Given the description of an element on the screen output the (x, y) to click on. 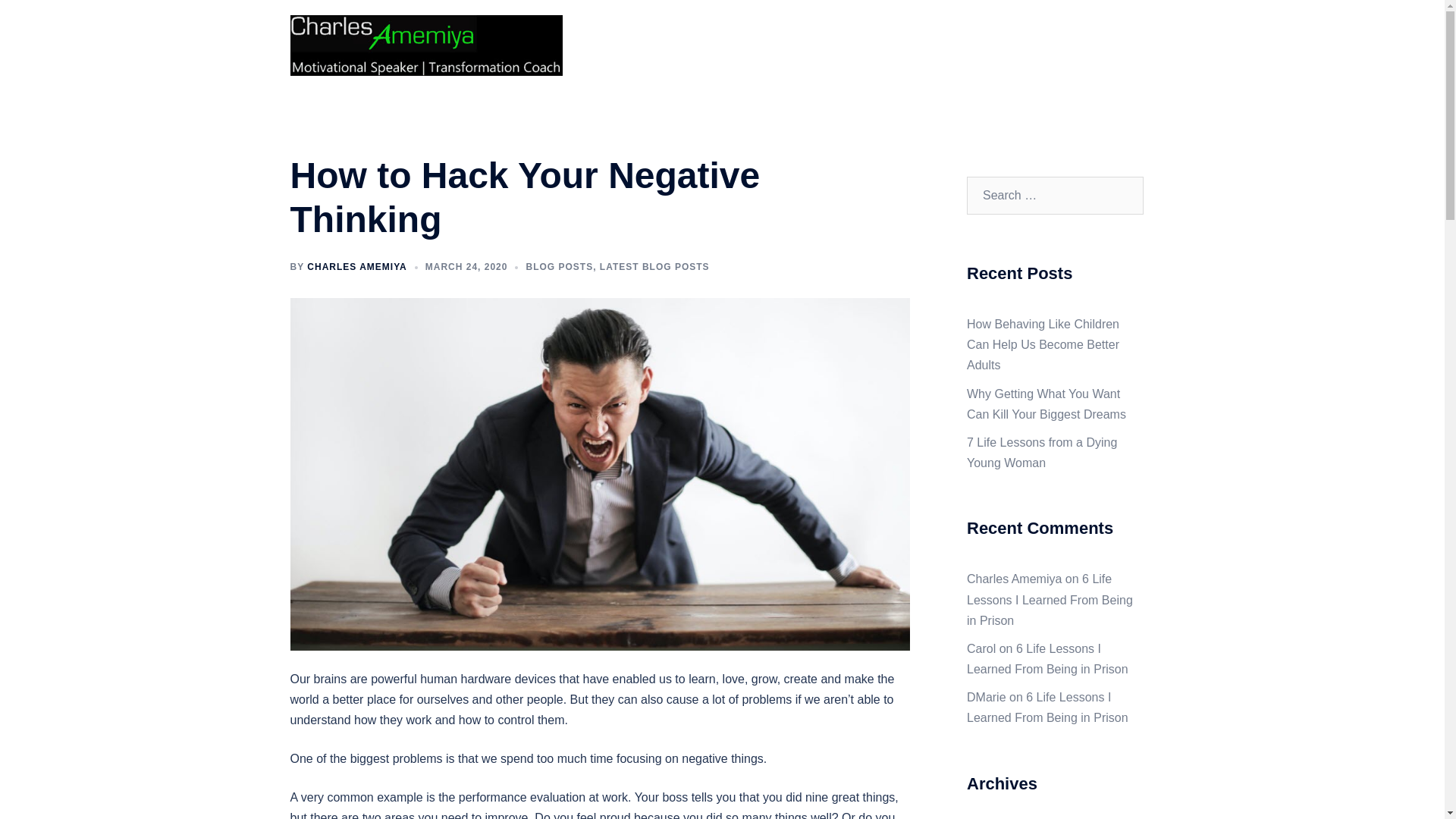
Workshops (1016, 45)
CHARLES AMEMIYA (356, 266)
6 Life Lessons I Learned From Being in Prison (1047, 707)
How Behaving Like Children Can Help Us Become Better Adults (1042, 344)
Coaching (881, 45)
About Me (815, 45)
Why Getting What You Want Can Kill Your Biggest Dreams (1045, 403)
Charles Amemiya (425, 43)
LATEST BLOG POSTS (654, 266)
7 Life Lessons from a Dying Young Woman (1041, 452)
6 Life Lessons I Learned From Being in Prison (1049, 599)
MARCH 24, 2020 (466, 266)
6 Life Lessons I Learned From Being in Prison (1047, 658)
Speaking (946, 45)
Search (47, 18)
